Given the description of an element on the screen output the (x, y) to click on. 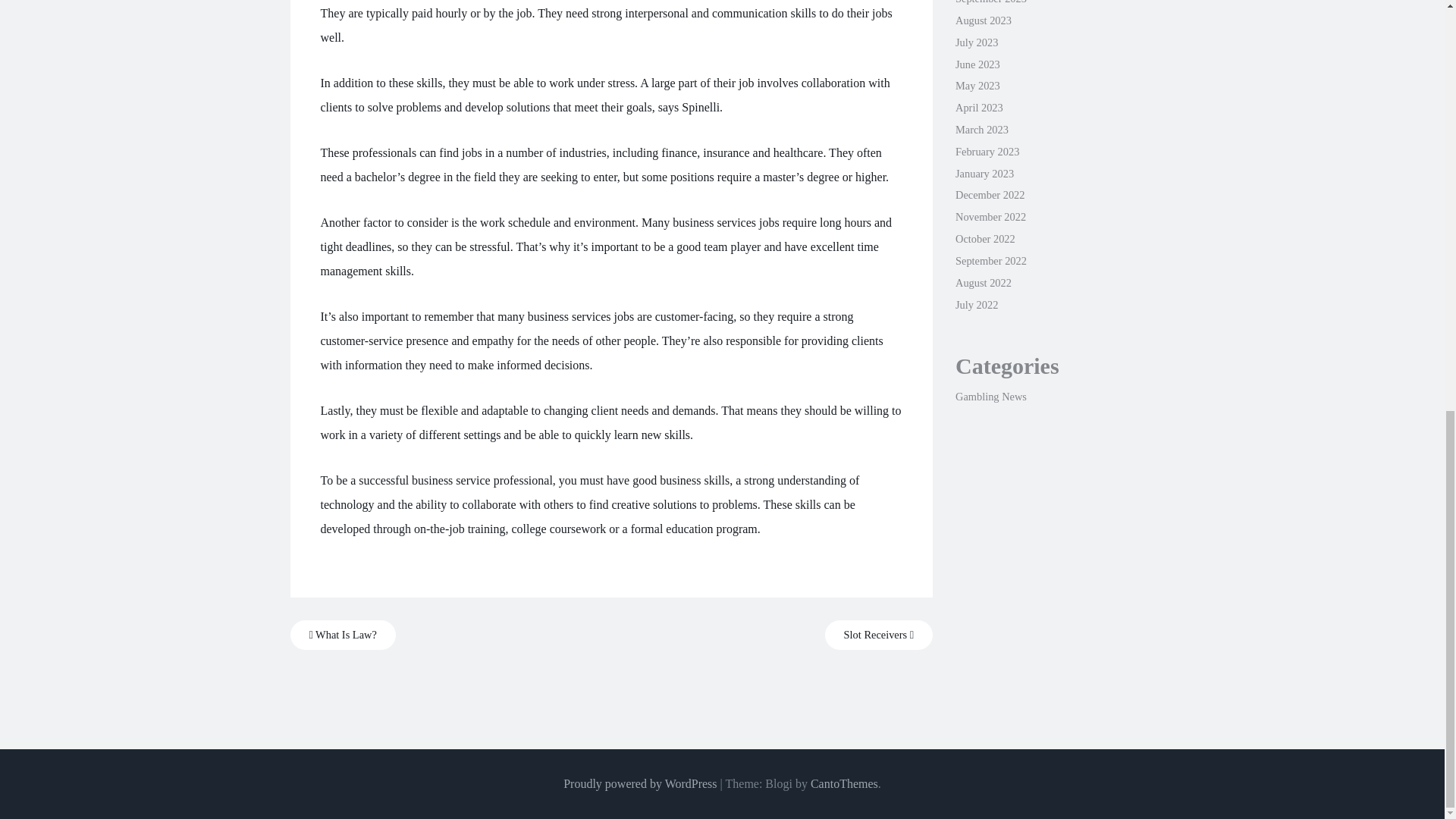
July 2023 (976, 42)
September 2023 (990, 2)
January 2023 (984, 173)
September 2022 (990, 260)
November 2022 (990, 216)
August 2023 (983, 20)
October 2022 (984, 238)
July 2022 (976, 304)
April 2023 (979, 107)
December 2022 (990, 194)
